Given the description of an element on the screen output the (x, y) to click on. 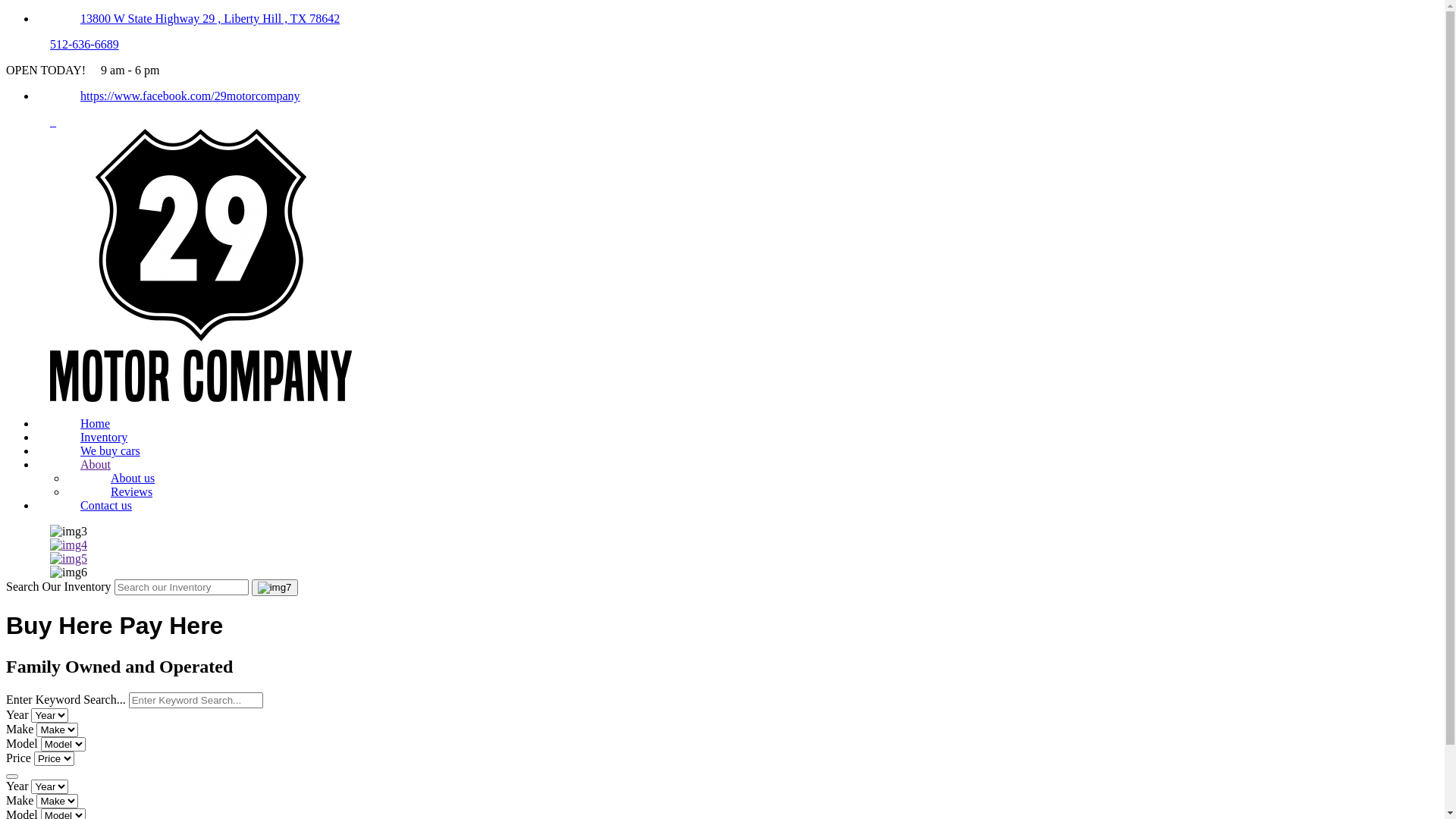
We buy cars Element type: text (110, 450)
512-636-6689 Element type: text (84, 44)
About Element type: text (95, 464)
Home Element type: hover (200, 397)
Home Element type: text (94, 423)
About us Element type: text (132, 477)
_ Element type: text (53, 121)
https://www.facebook.com/29motorcompany Element type: text (190, 95)
Inventory Element type: text (103, 436)
Contact us Element type: text (105, 505)
Reviews Element type: text (131, 491)
